Given the description of an element on the screen output the (x, y) to click on. 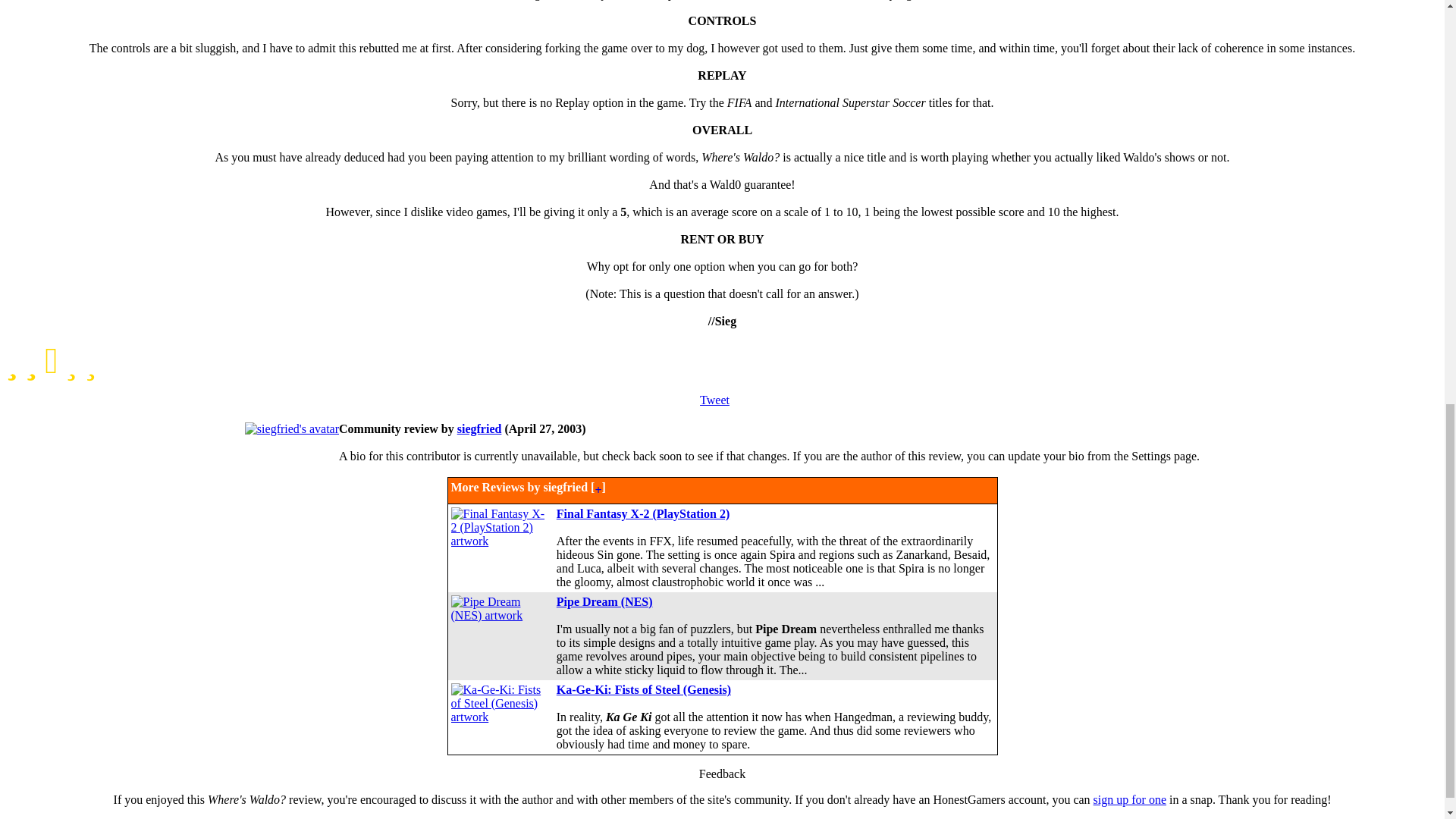
Tweet (714, 399)
siegfried (479, 428)
sign up for one (1129, 799)
